Given the description of an element on the screen output the (x, y) to click on. 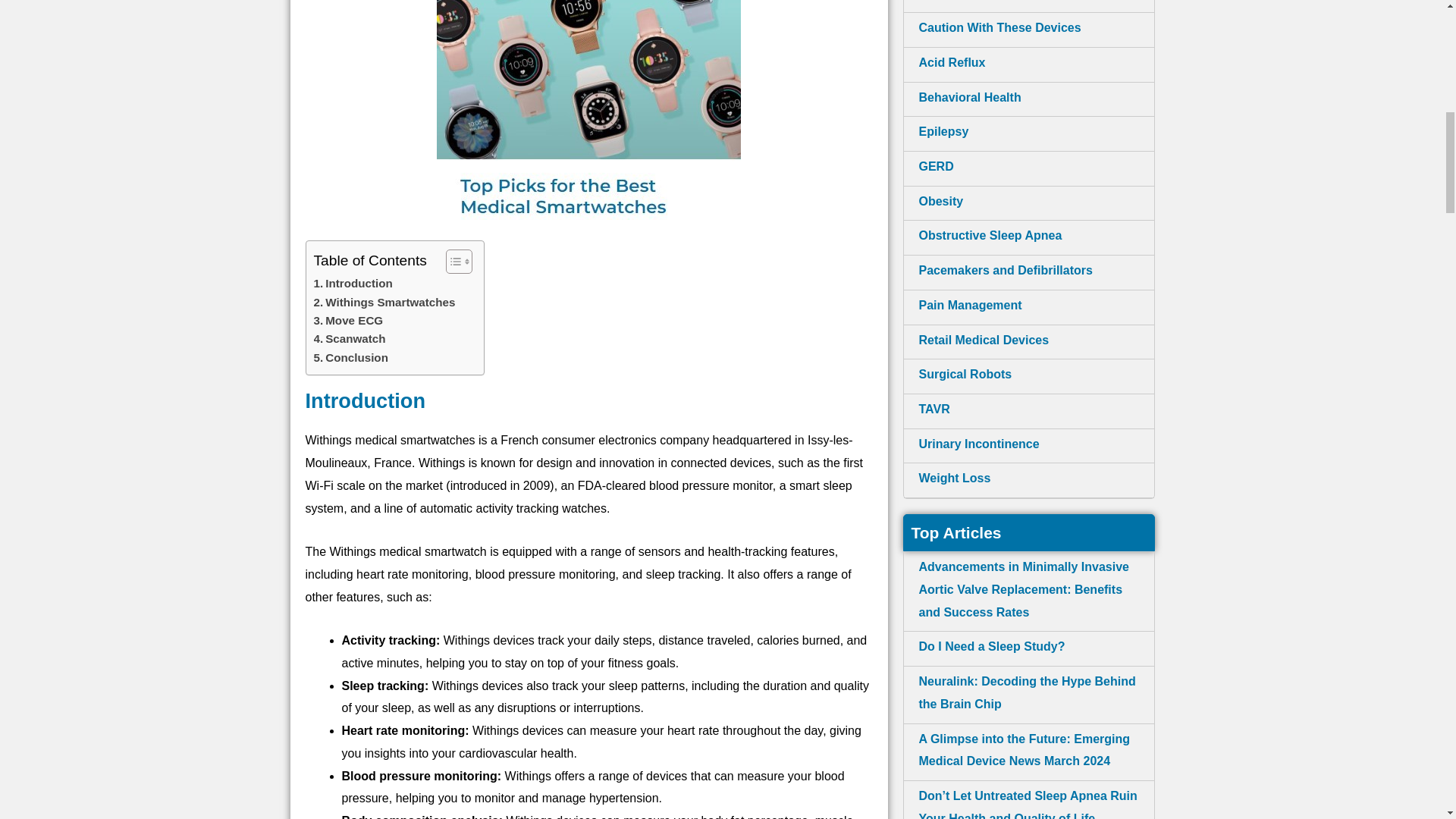
Withings Smartwatches (384, 302)
Scanwatch (349, 339)
Introduction (353, 283)
Move ECG (349, 321)
Conclusion (351, 357)
